Given the description of an element on the screen output the (x, y) to click on. 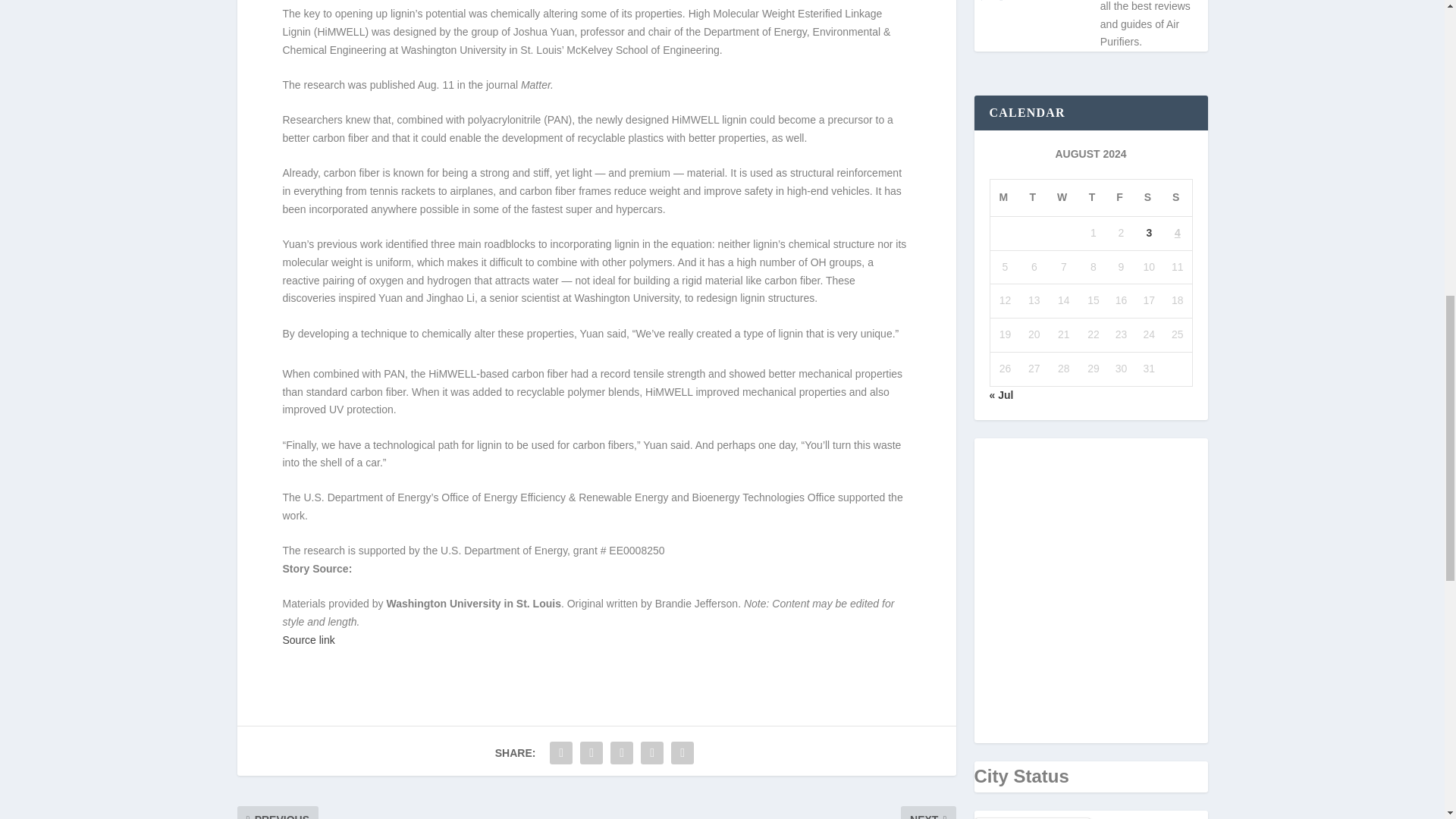
Source link (308, 639)
